Given the description of an element on the screen output the (x, y) to click on. 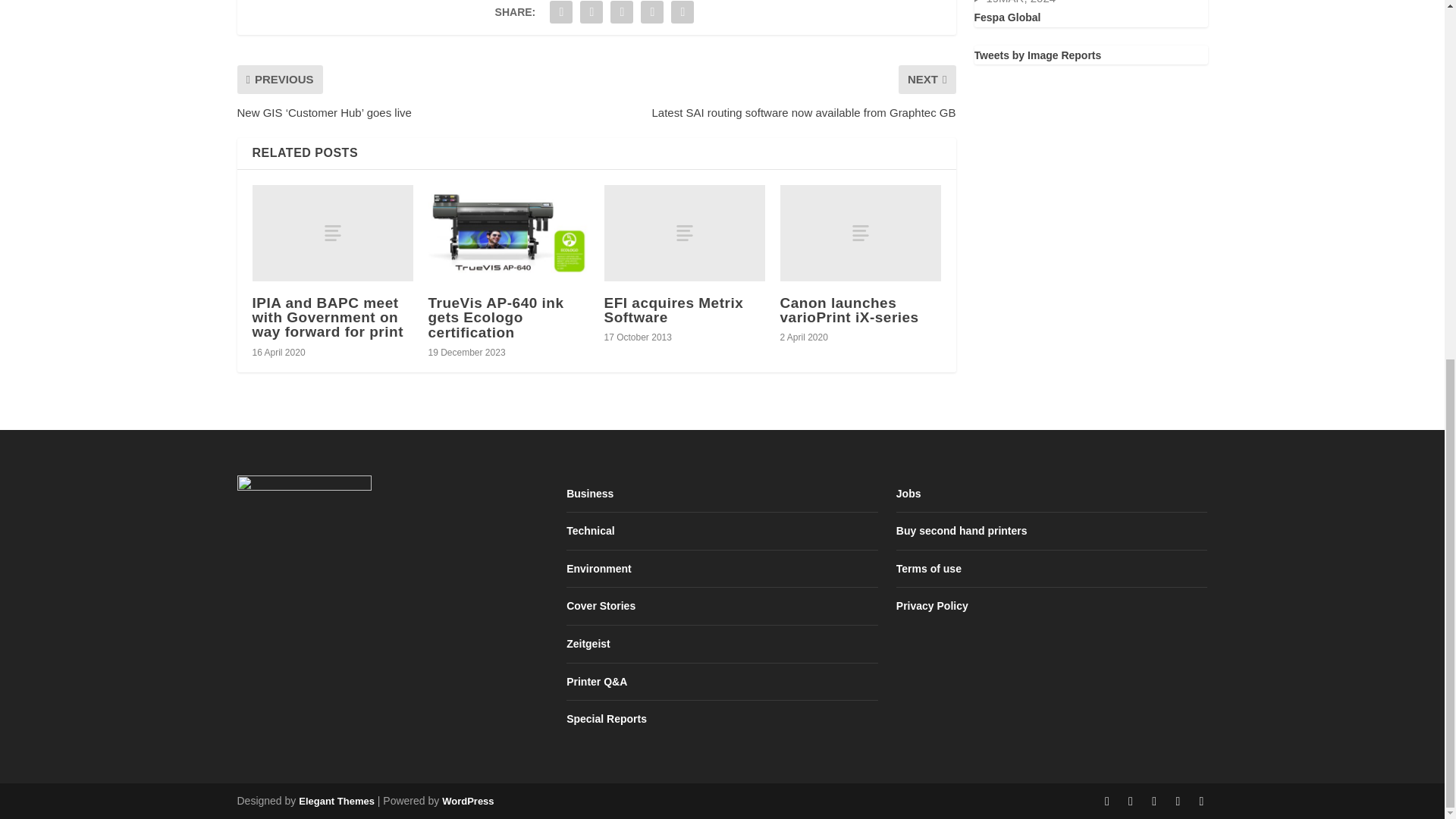
Share "New Gunner cutters come to Europe" via Email (651, 13)
Share "New Gunner cutters come to Europe" via Facebook (561, 13)
TrueVis AP-640 ink gets Ecologo certification (508, 233)
Share "New Gunner cutters come to Europe" via Twitter (591, 13)
EFI acquires Metrix Software (684, 233)
Premium WordPress Themes (336, 800)
IPIA and BAPC meet with Government on way forward for print (331, 233)
Share "New Gunner cutters come to Europe" via LinkedIn (622, 13)
Share "New Gunner cutters come to Europe" via Print (681, 13)
Canon launches varioPrint iX-series (859, 233)
